Given the description of an element on the screen output the (x, y) to click on. 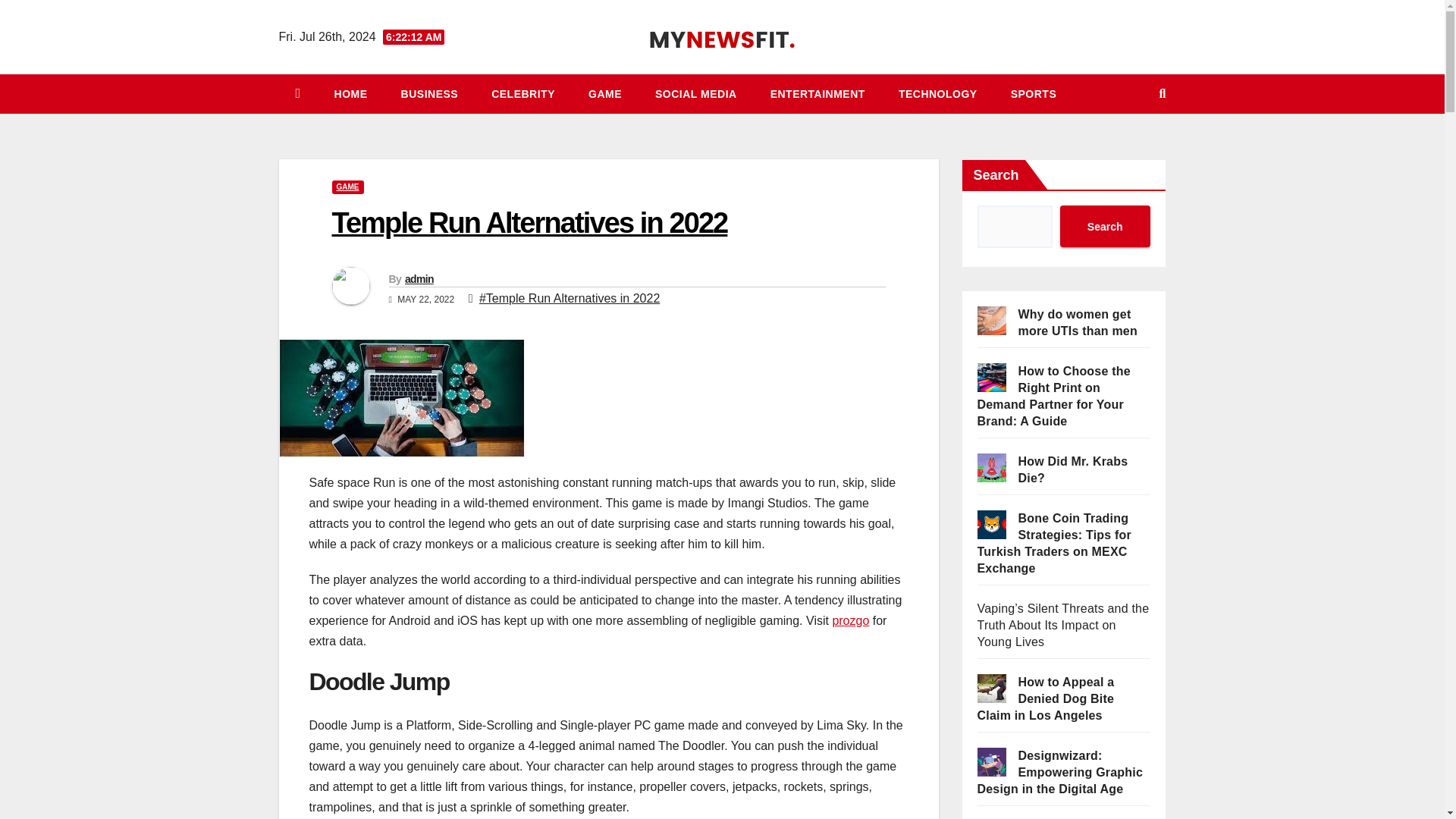
Home (350, 93)
Business (430, 93)
SPORTS (1034, 93)
admin (418, 278)
Permalink to: Temple Run Alternatives in 2022 (529, 223)
Entertainment (818, 93)
Sports (1034, 93)
BUSINESS (430, 93)
Temple Run Alternatives in 2022 (529, 223)
GAME (605, 93)
TECHNOLOGY (938, 93)
CELEBRITY (523, 93)
prozgo (850, 620)
Social Media (696, 93)
Game (605, 93)
